Given the description of an element on the screen output the (x, y) to click on. 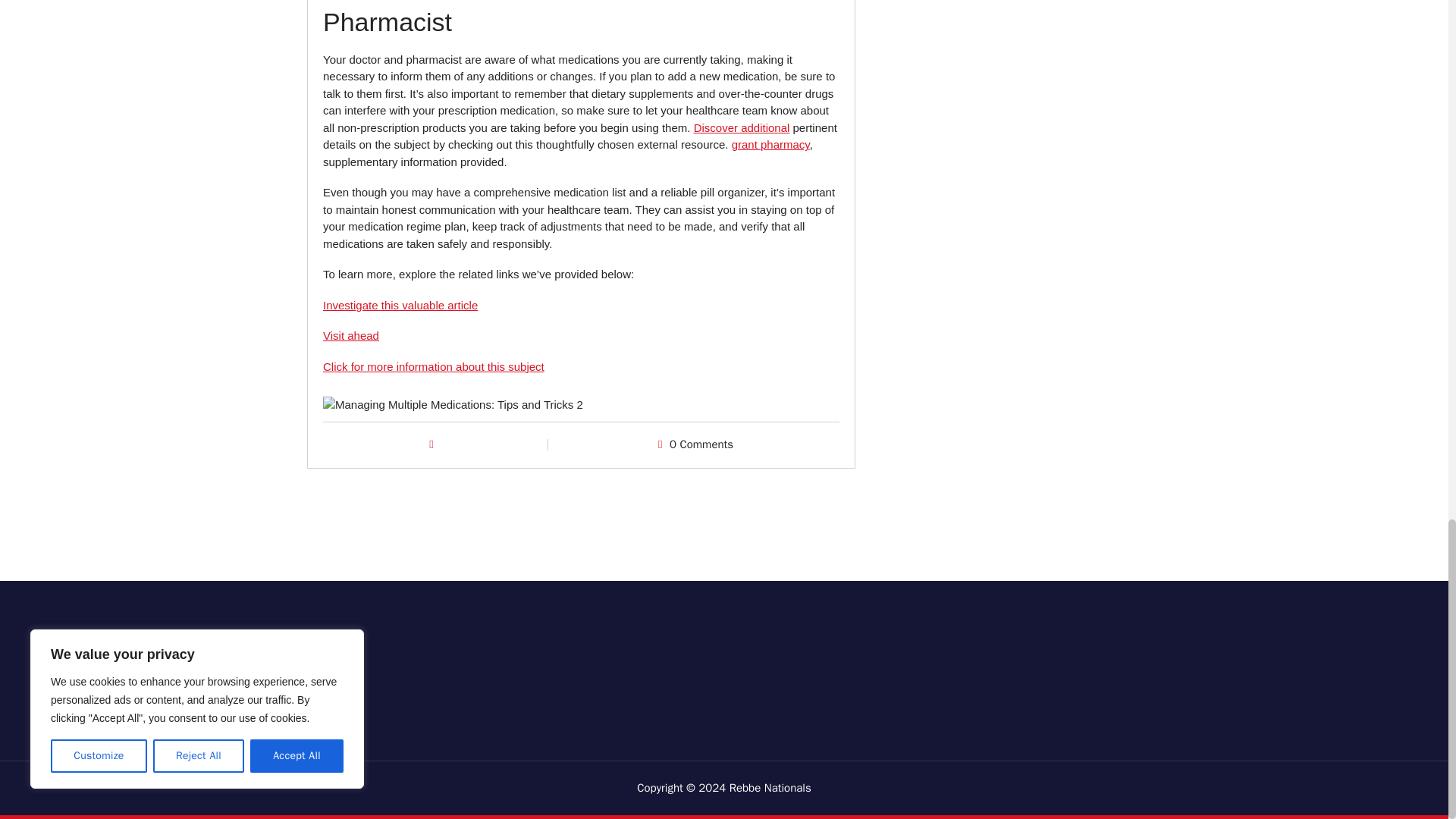
Discover additional (742, 127)
Visit ahead (350, 335)
Click for more information about this subject (433, 366)
Investigate this valuable article (400, 305)
grant pharmacy (770, 144)
